Given the description of an element on the screen output the (x, y) to click on. 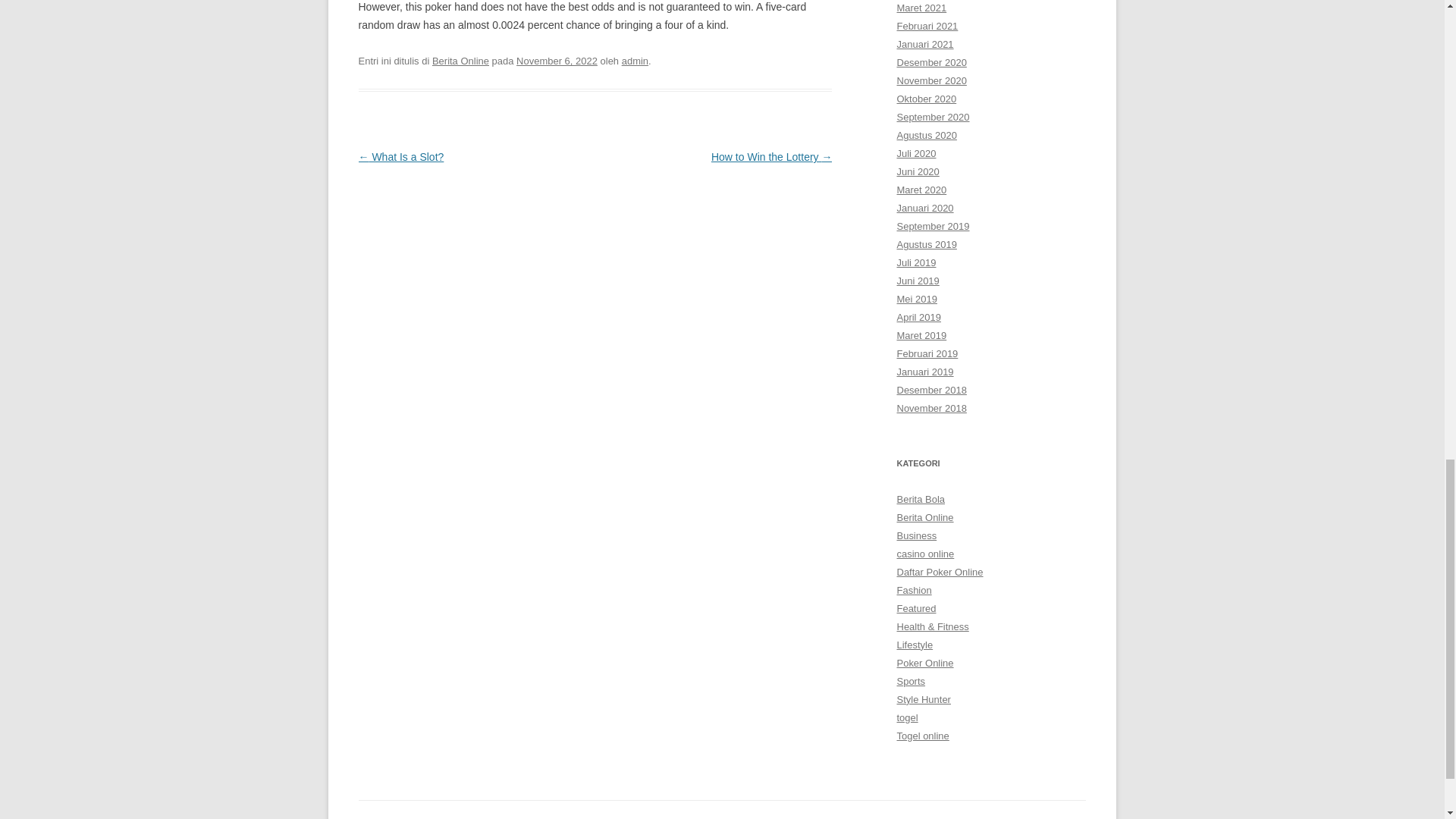
admin (634, 60)
5:46 pm (556, 60)
Berita Online (460, 60)
Lihat semua tulisan oleh admin (634, 60)
November 6, 2022 (556, 60)
